Given the description of an element on the screen output the (x, y) to click on. 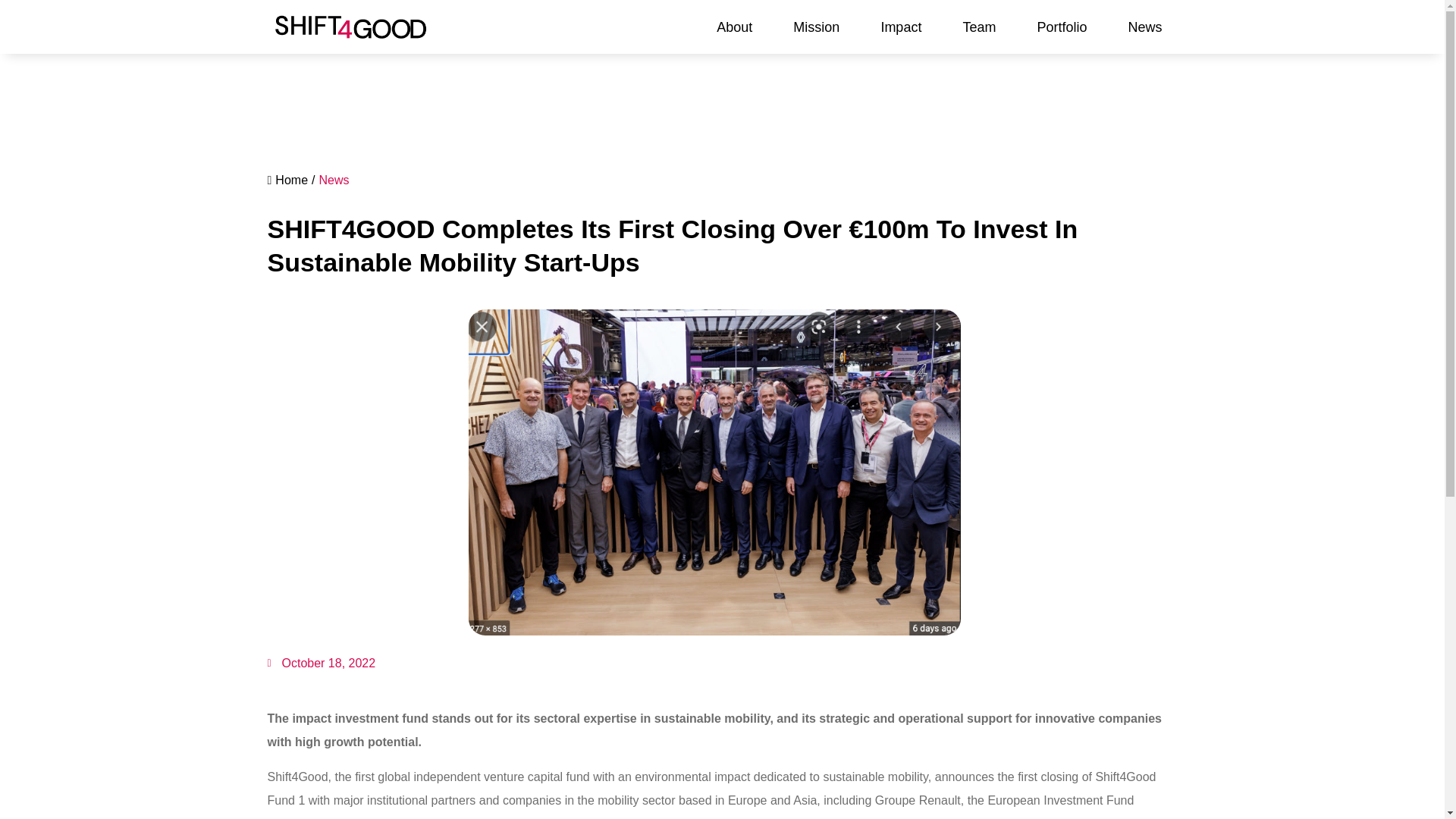
Home (286, 180)
About (734, 26)
News (333, 179)
Impact (900, 26)
News (1144, 26)
Portfolio (1062, 26)
Team (978, 26)
October 18, 2022 (320, 663)
Mission (815, 26)
